Given the description of an element on the screen output the (x, y) to click on. 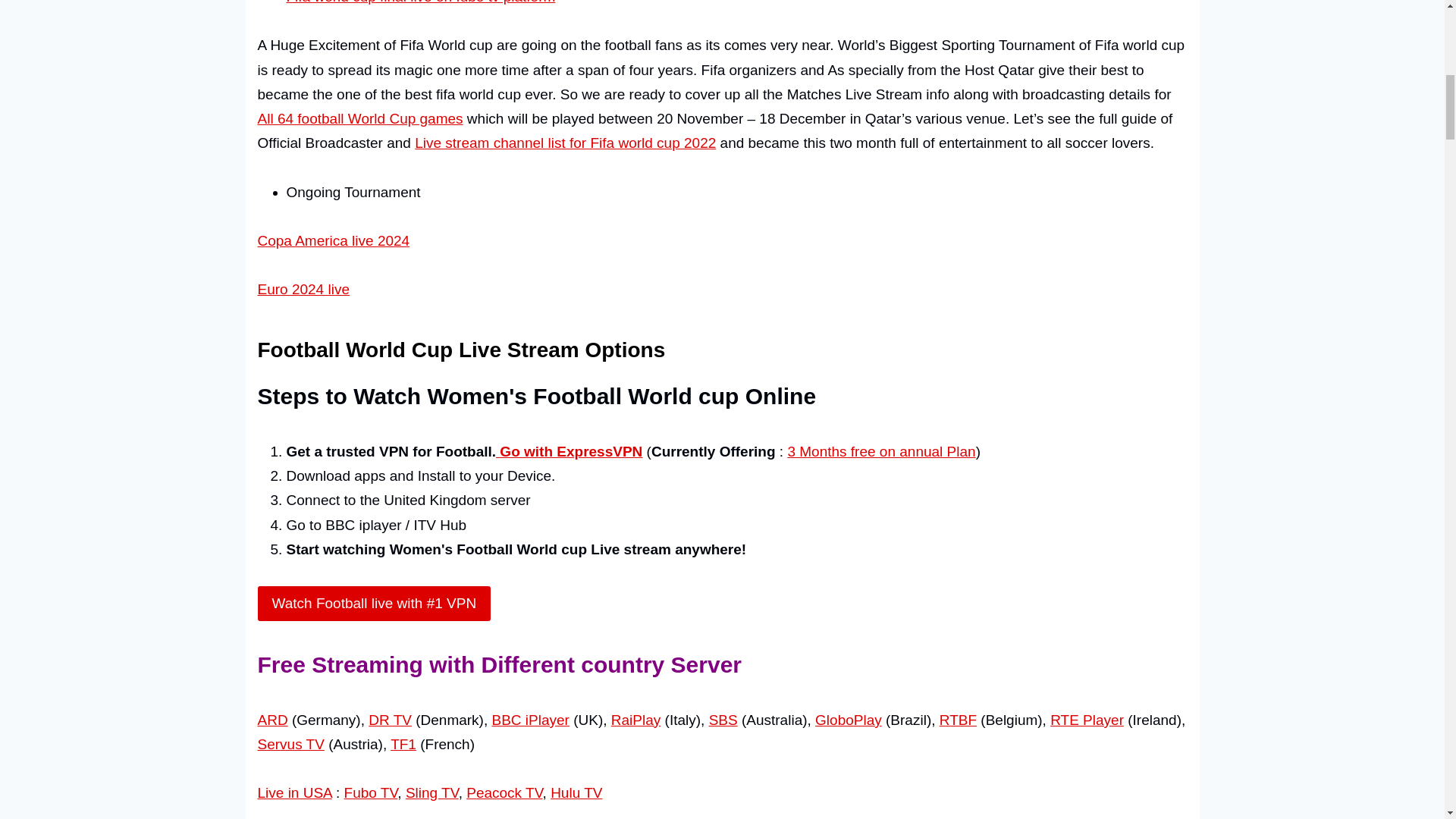
ExpressVPN Football (881, 451)
ExpressVPN Football (374, 603)
ExpressVPN Football (569, 451)
